Given the description of an element on the screen output the (x, y) to click on. 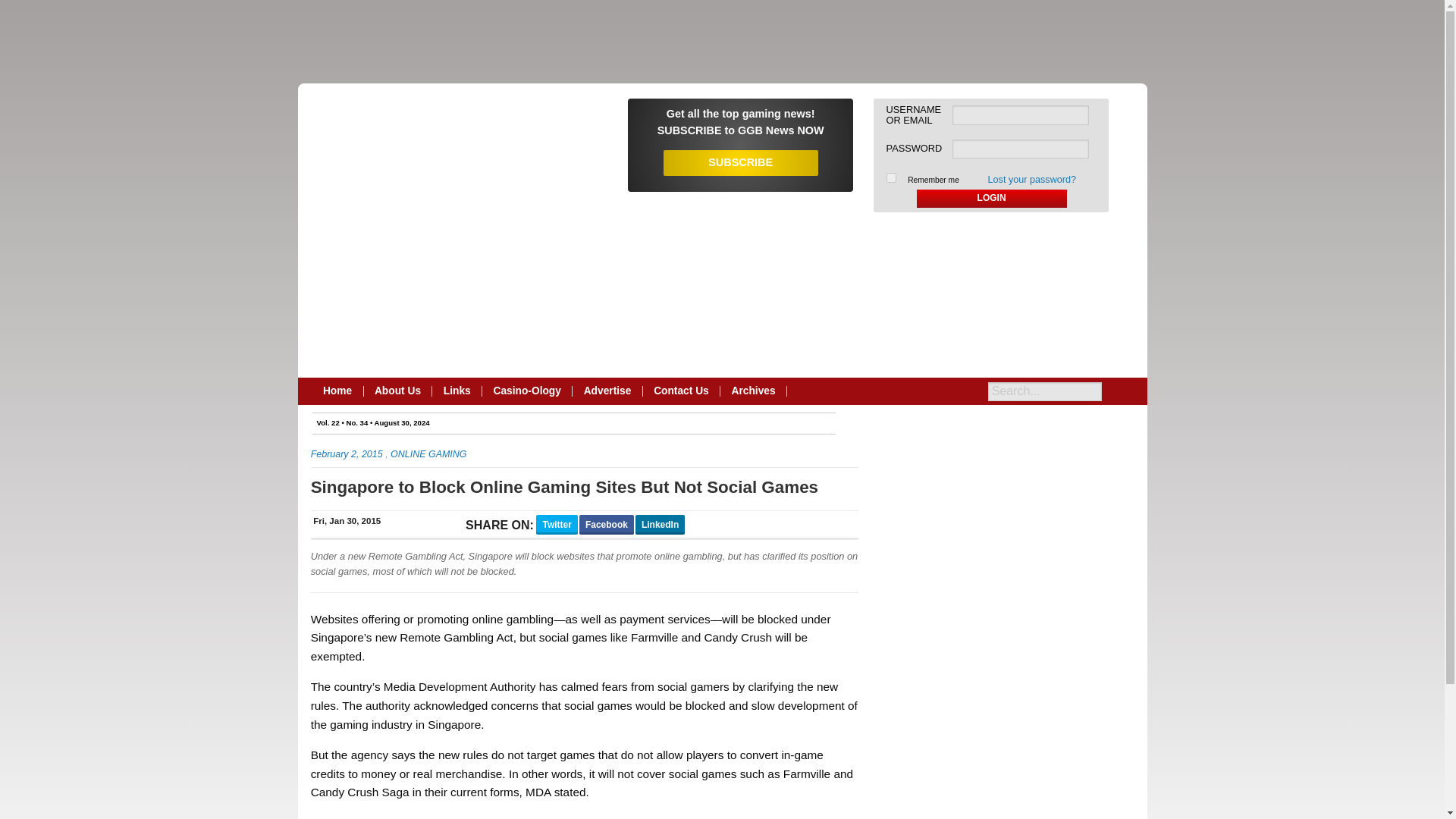
Archives (753, 390)
Search for: (1045, 391)
Links (456, 390)
Twitter (555, 524)
Login (992, 198)
Home (338, 390)
ONLINE GAMING (427, 453)
LinkedIn (659, 524)
Contact Us (681, 390)
Login (992, 198)
